Given the description of an element on the screen output the (x, y) to click on. 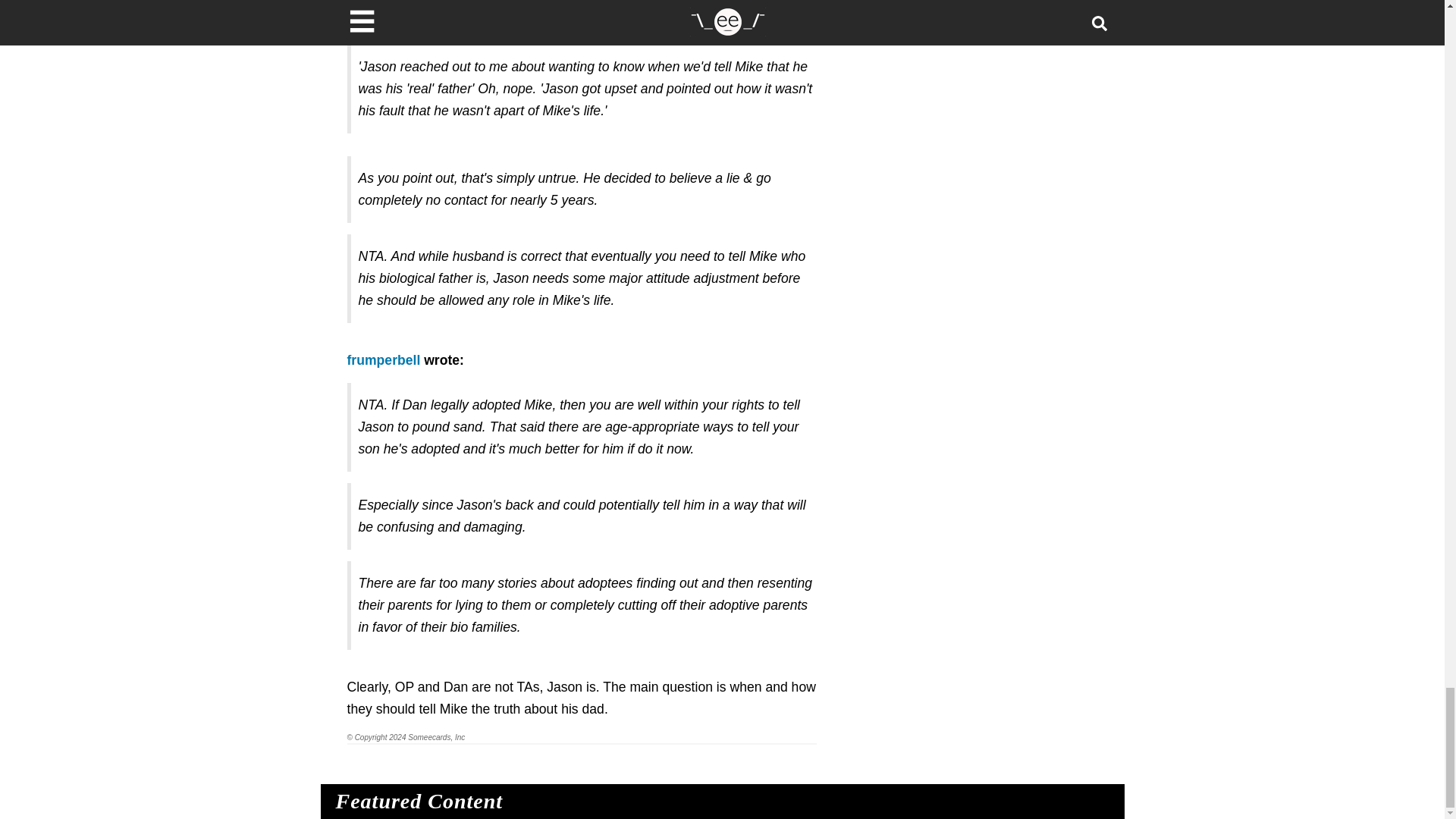
frumperbell (383, 359)
ChiefTuk (375, 21)
